Given the description of an element on the screen output the (x, y) to click on. 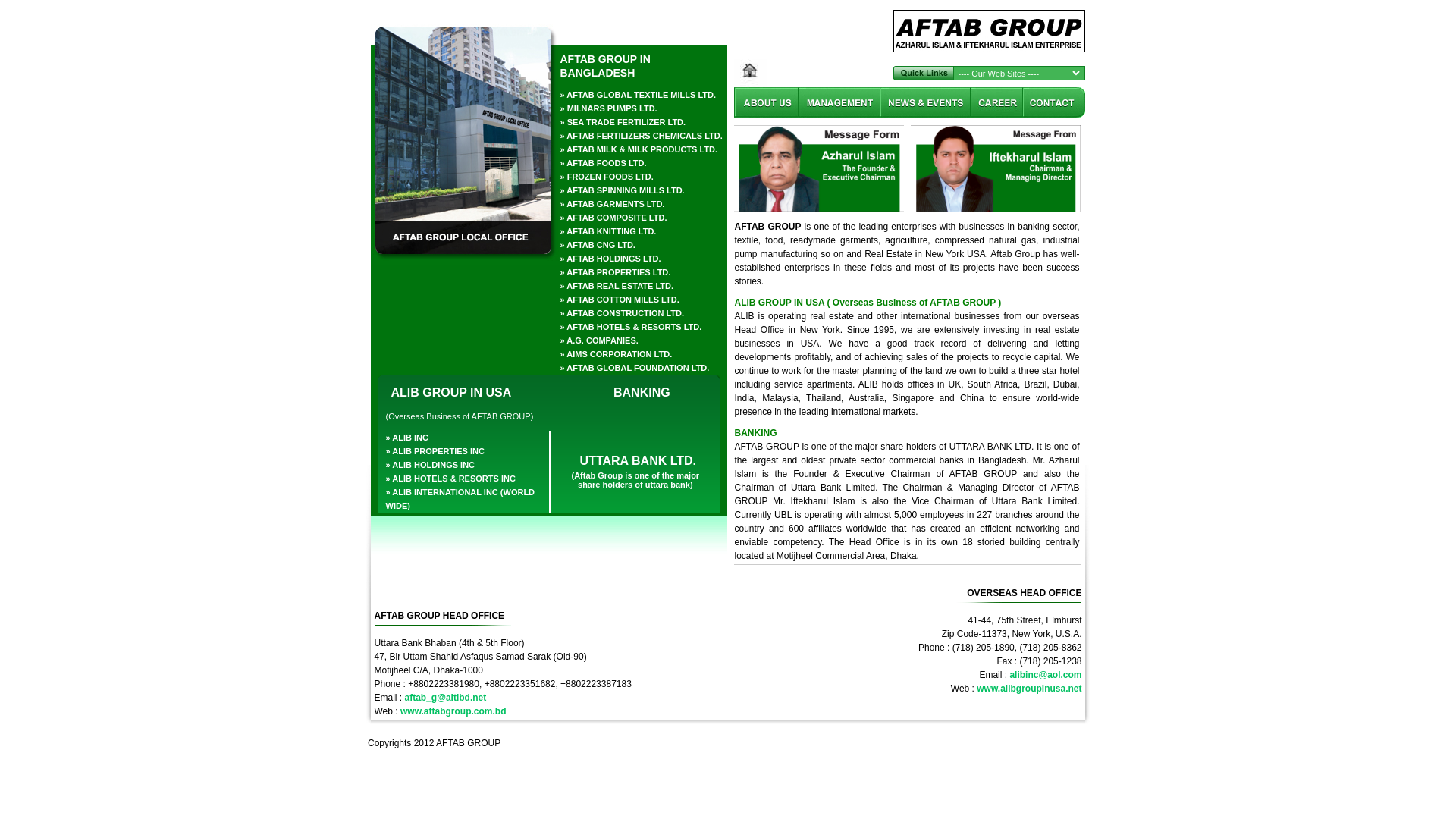
AKKHOR SOFT LTD. Element type: text (1047, 742)
www.alibgroupinusa.net Element type: text (1028, 688)
aftab_g@aitlbd.net Element type: text (445, 697)
www.aftabgroup.com.bd Element type: text (453, 711)
UTTARA BANK LTD. Element type: text (635, 454)
alibinc@aol.com Element type: text (1045, 674)
ALIB GROUP IN USA Element type: text (448, 386)
